Given the description of an element on the screen output the (x, y) to click on. 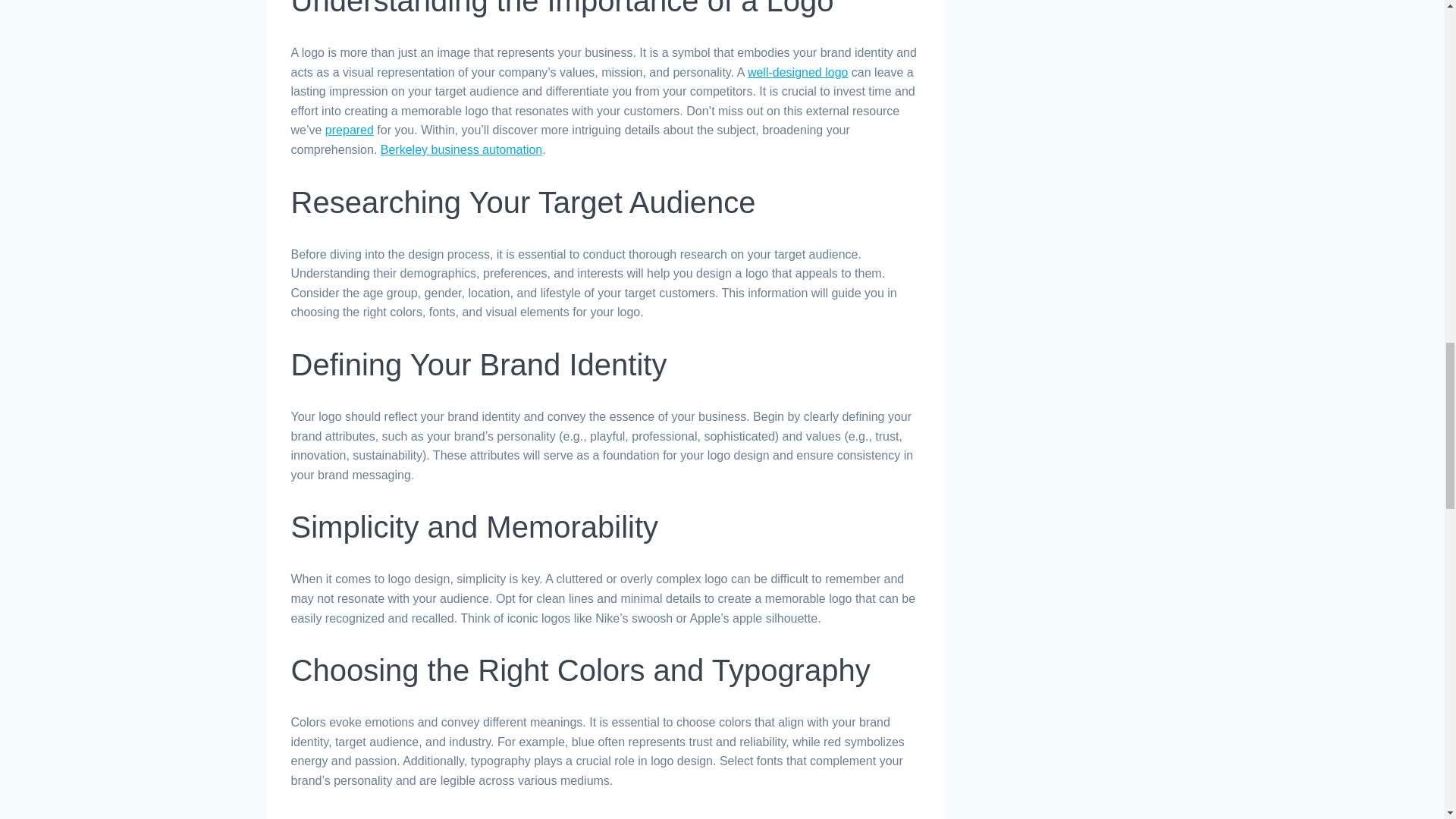
well-designed logo (798, 72)
Berkeley business automation (460, 149)
prepared (349, 129)
